Given the description of an element on the screen output the (x, y) to click on. 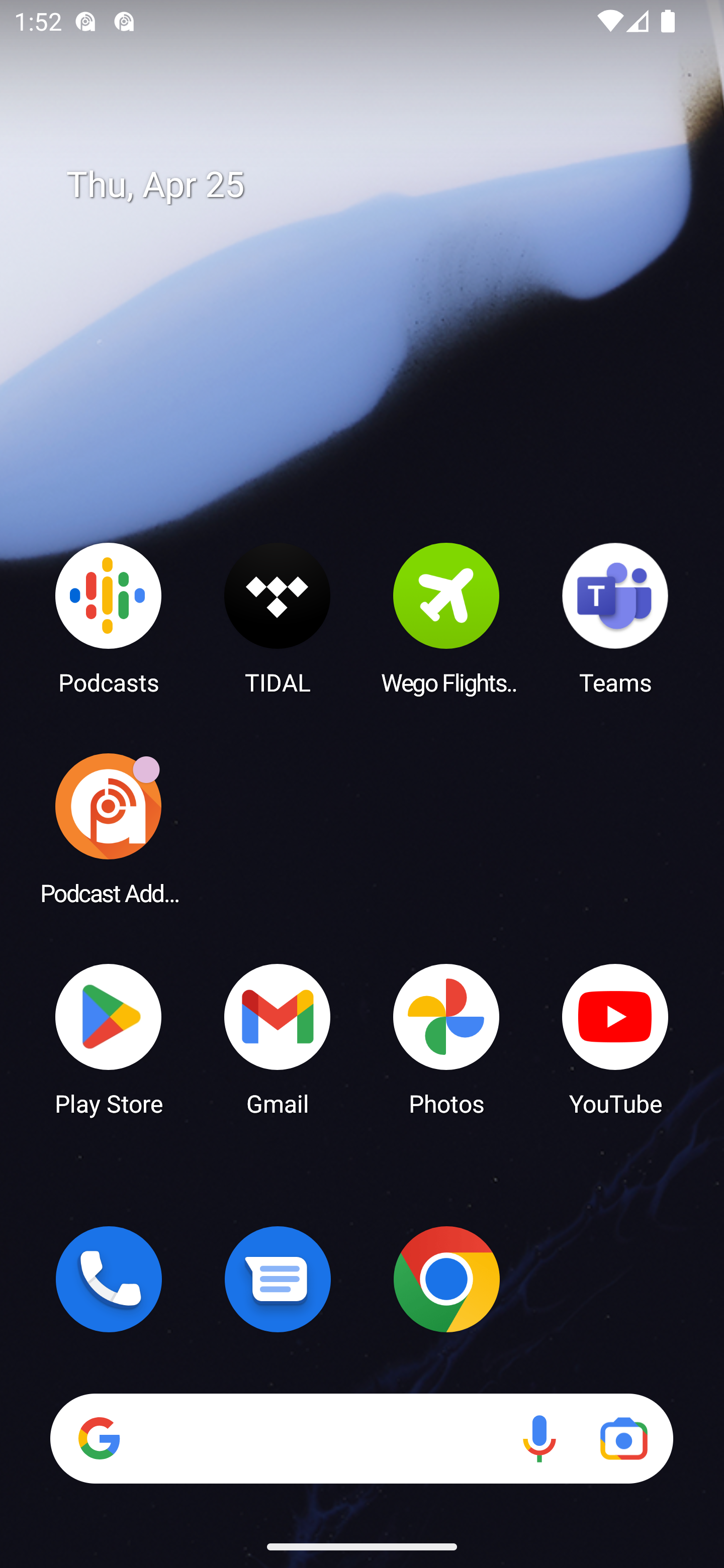
Thu, Apr 25 (375, 184)
Podcasts (108, 617)
TIDAL (277, 617)
Wego Flights & Hotels (445, 617)
Teams (615, 617)
Play Store (108, 1038)
Gmail (277, 1038)
Photos (445, 1038)
YouTube (615, 1038)
Phone (108, 1279)
Messages (277, 1279)
Chrome (446, 1279)
Search Voice search Google Lens (361, 1438)
Voice search (539, 1438)
Google Lens (623, 1438)
